Given the description of an element on the screen output the (x, y) to click on. 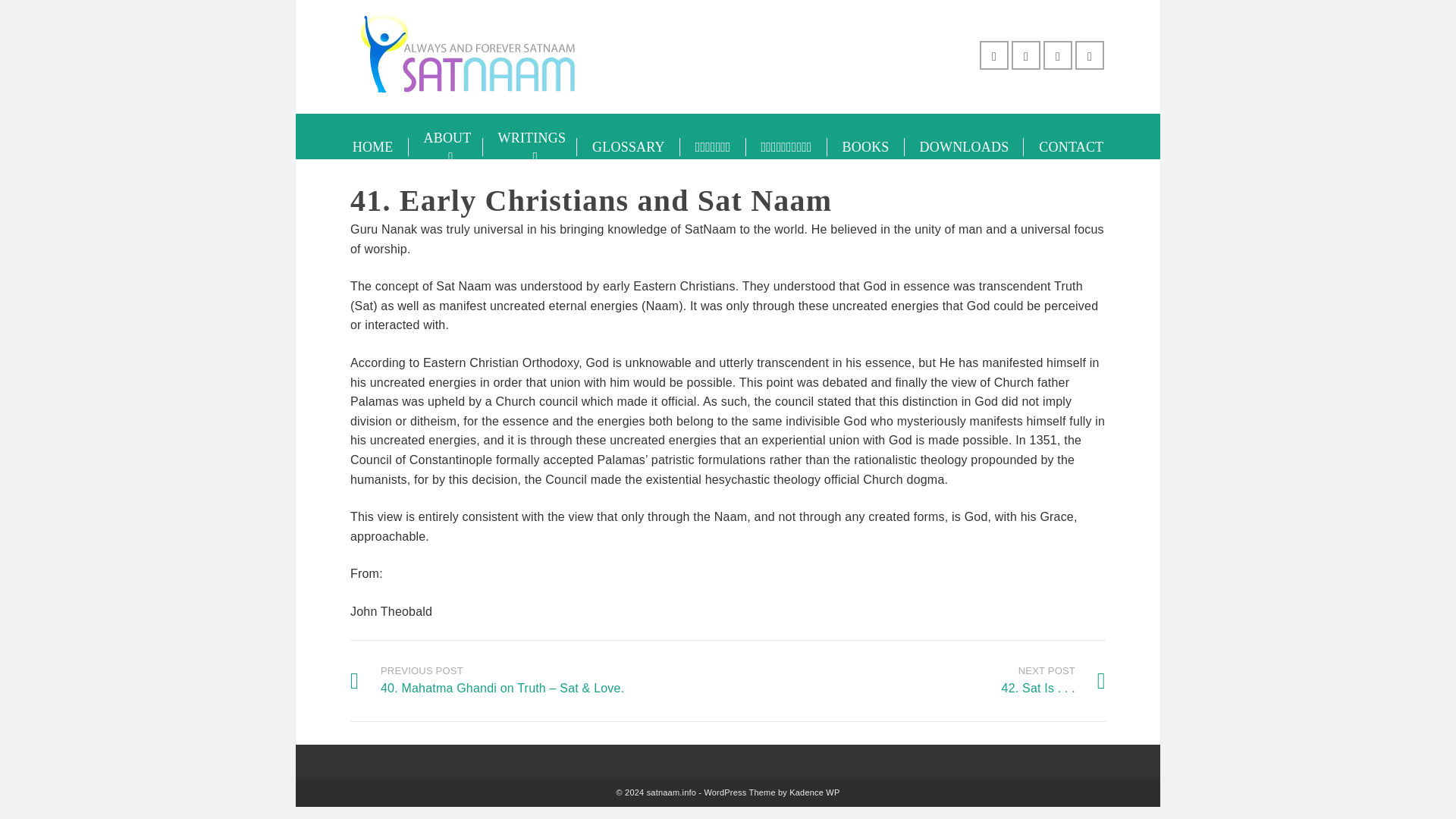
BOOKS (865, 146)
HOME (1053, 679)
Kadence WP (373, 146)
DOWNLOADS (814, 791)
CONTACT (964, 146)
GLOSSARY (1070, 146)
ABOUT (627, 146)
WRITINGS (446, 146)
